Given the description of an element on the screen output the (x, y) to click on. 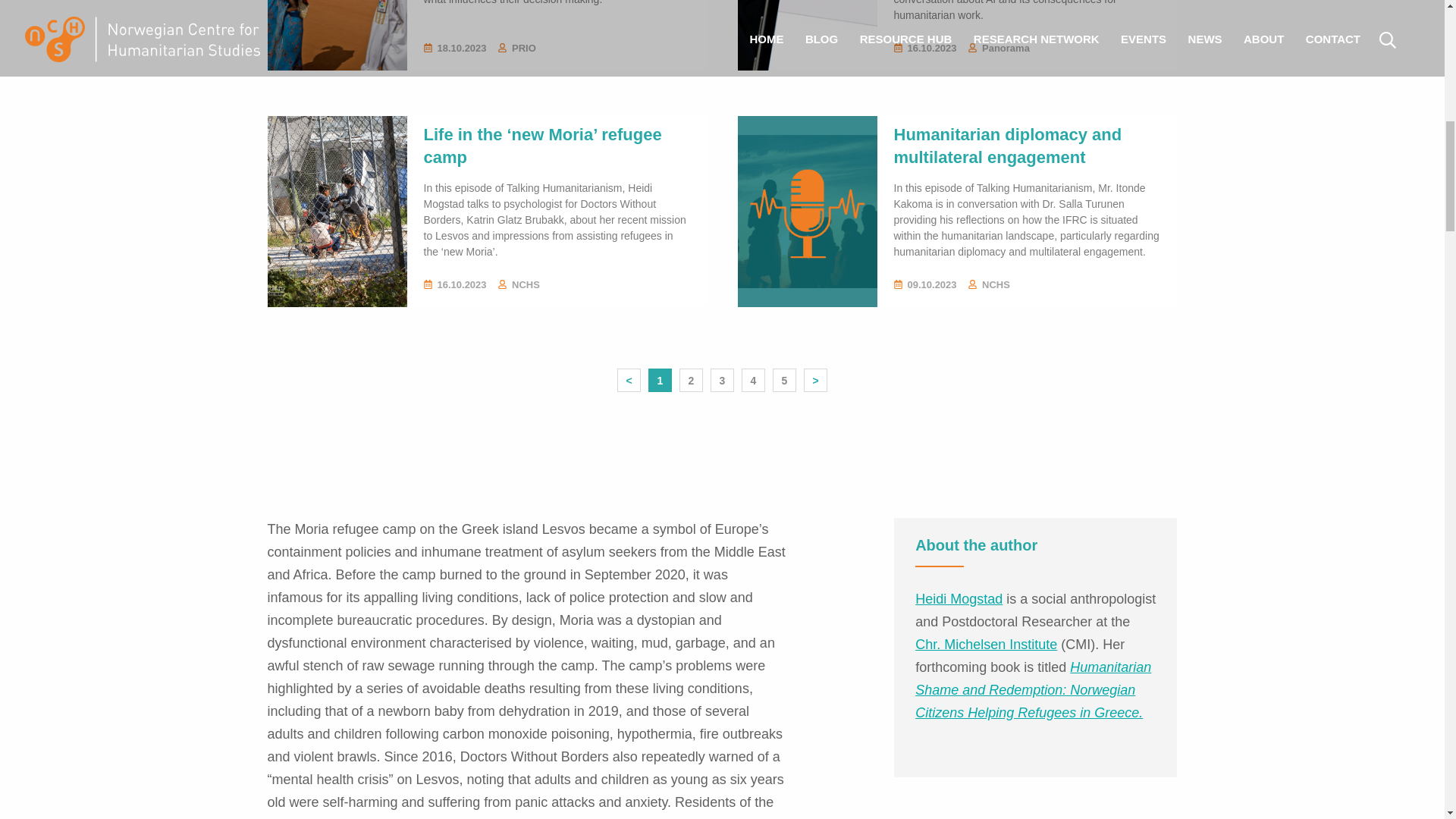
4 (753, 380)
3 (722, 380)
2 (690, 380)
1 (660, 379)
5 (783, 380)
